Given the description of an element on the screen output the (x, y) to click on. 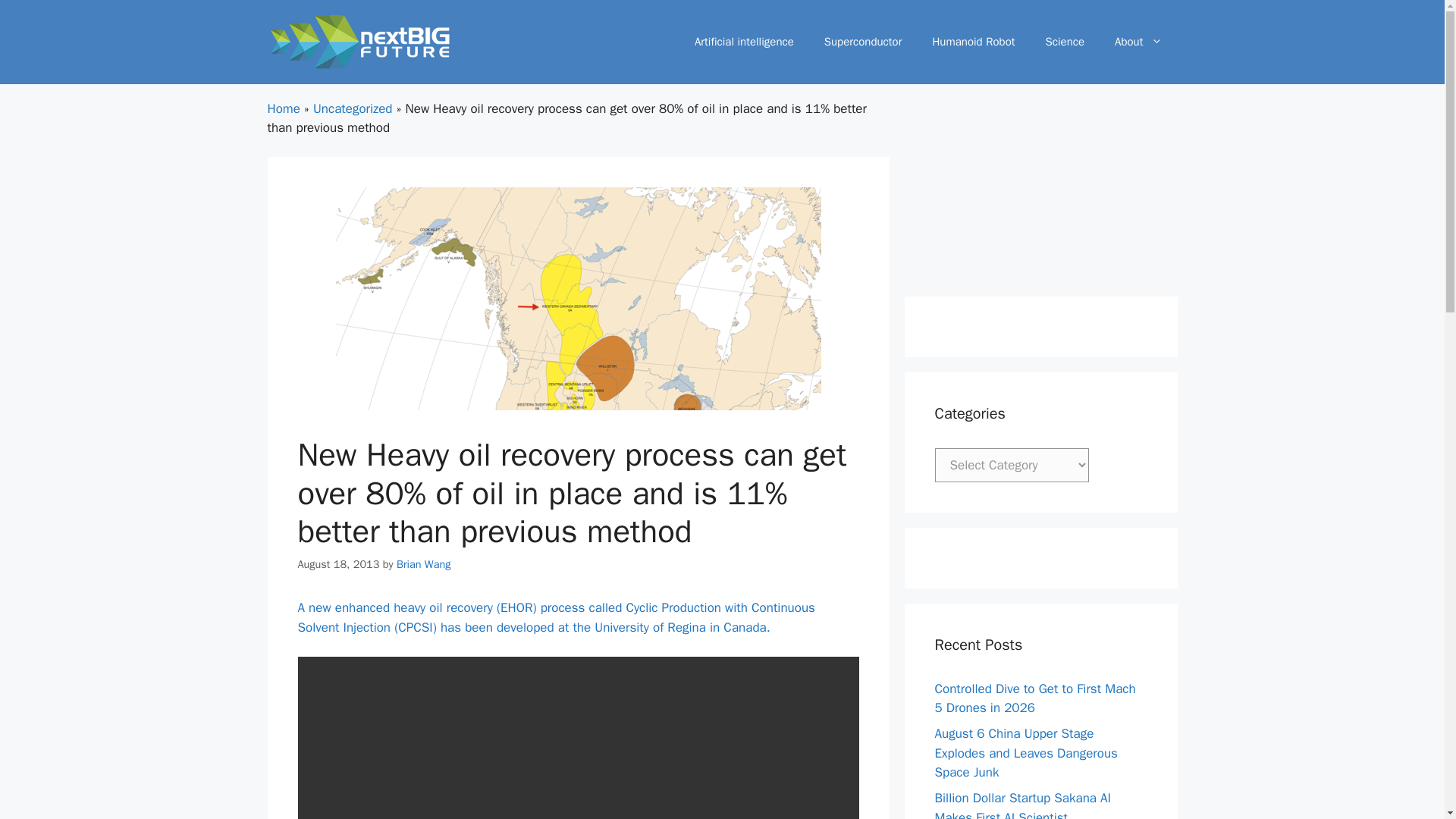
Brian Wang (423, 563)
Humanoid Robot (973, 41)
View all posts by Brian Wang (423, 563)
Uncategorized (353, 108)
Home (282, 108)
Science (1065, 41)
About (1137, 41)
Billion Dollar Startup Sakana AI Makes First AI Scientist (1022, 804)
Controlled Dive to Get to First Mach 5 Drones in 2026 (1034, 698)
